Given the description of an element on the screen output the (x, y) to click on. 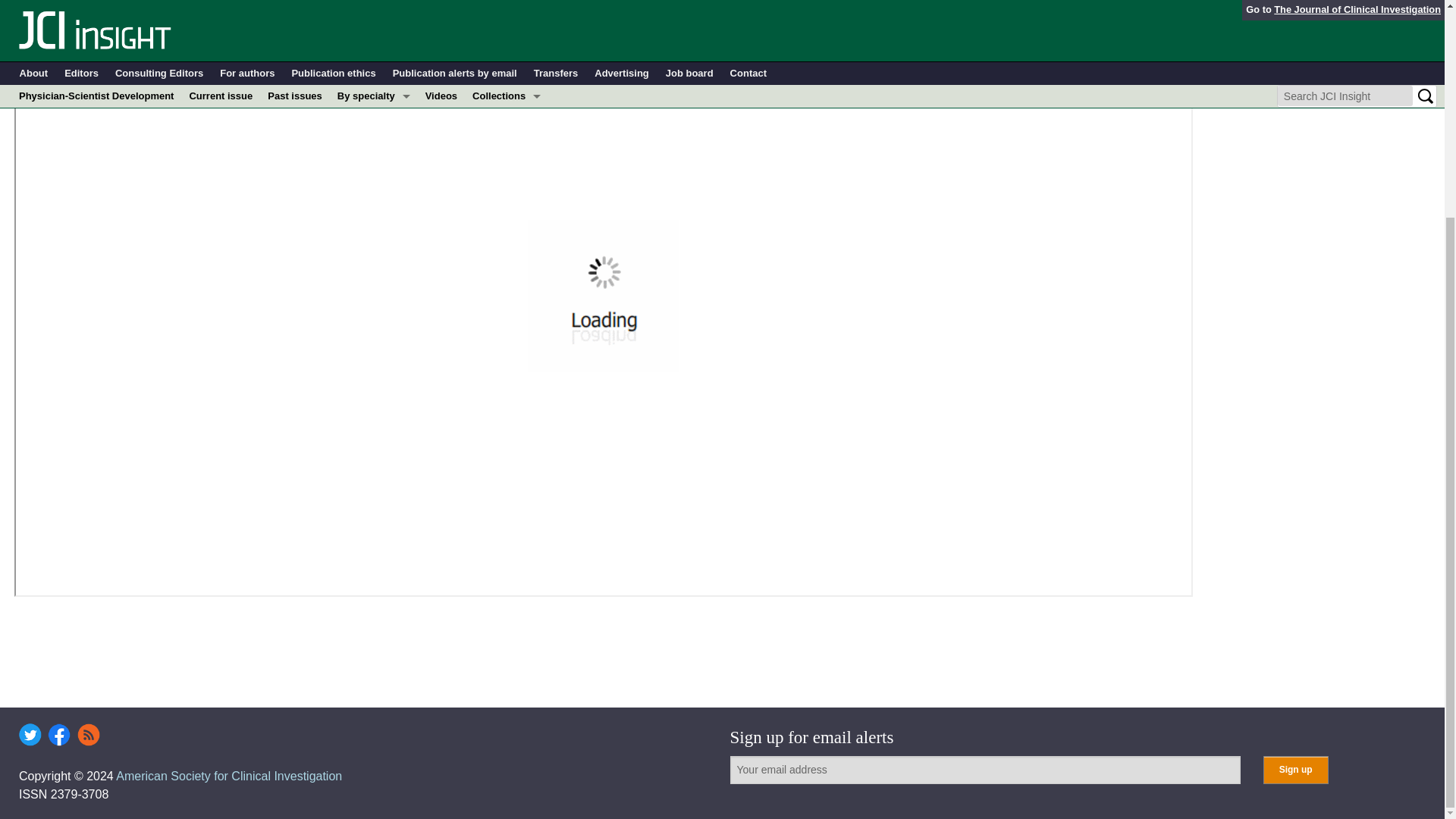
Top read articles (506, 2)
Sign up (1295, 769)
RSS (88, 734)
All ... (373, 2)
Facebook (58, 734)
Twitter (30, 734)
